Given the description of an element on the screen output the (x, y) to click on. 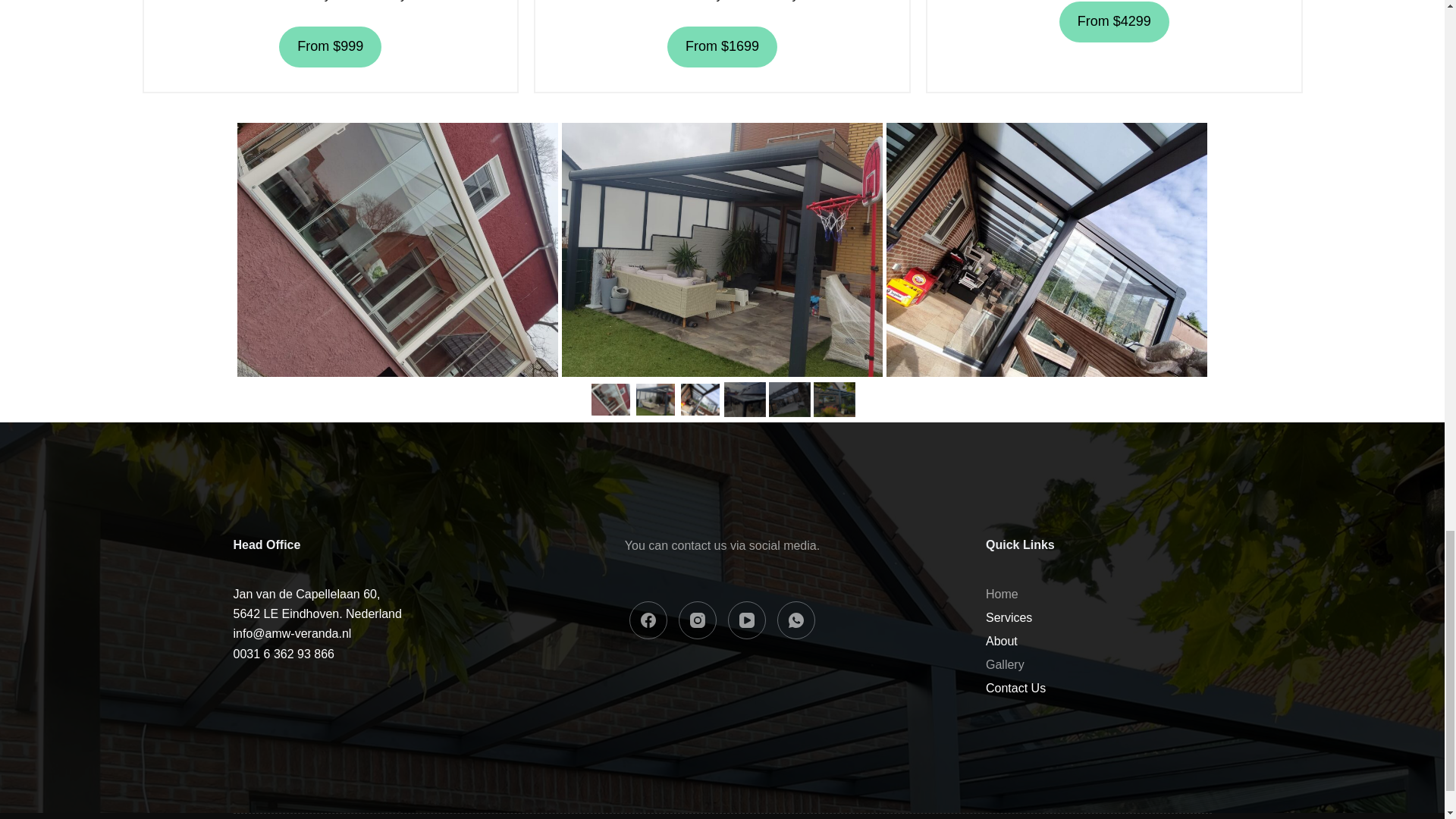
0031 6 362 93 866 (316, 603)
